Given the description of an element on the screen output the (x, y) to click on. 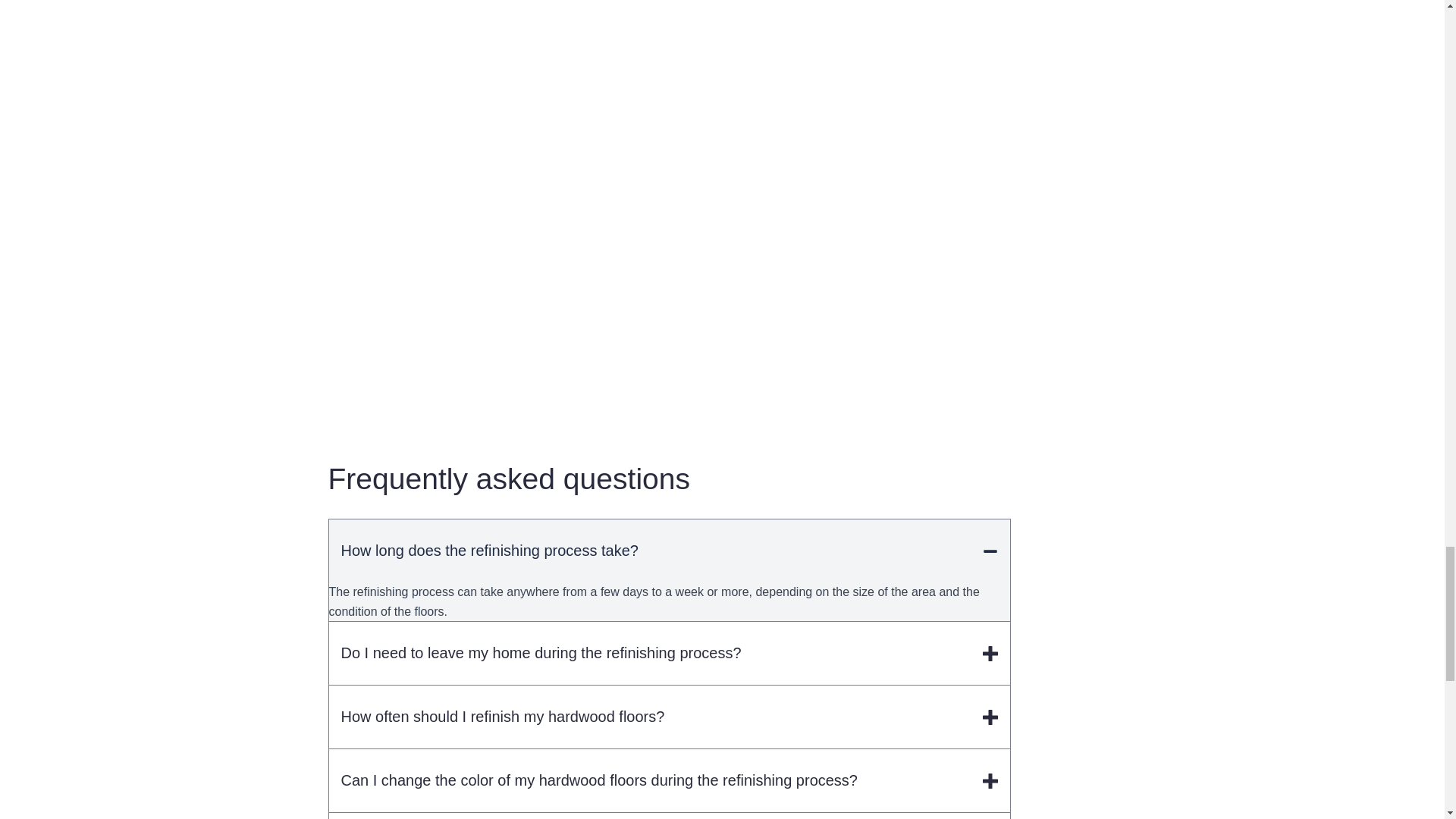
Do I need to leave my home during the refinishing process? (669, 652)
How often should I refinish my hardwood floors? (669, 716)
How long does the refinishing process take? (669, 550)
